Given the description of an element on the screen output the (x, y) to click on. 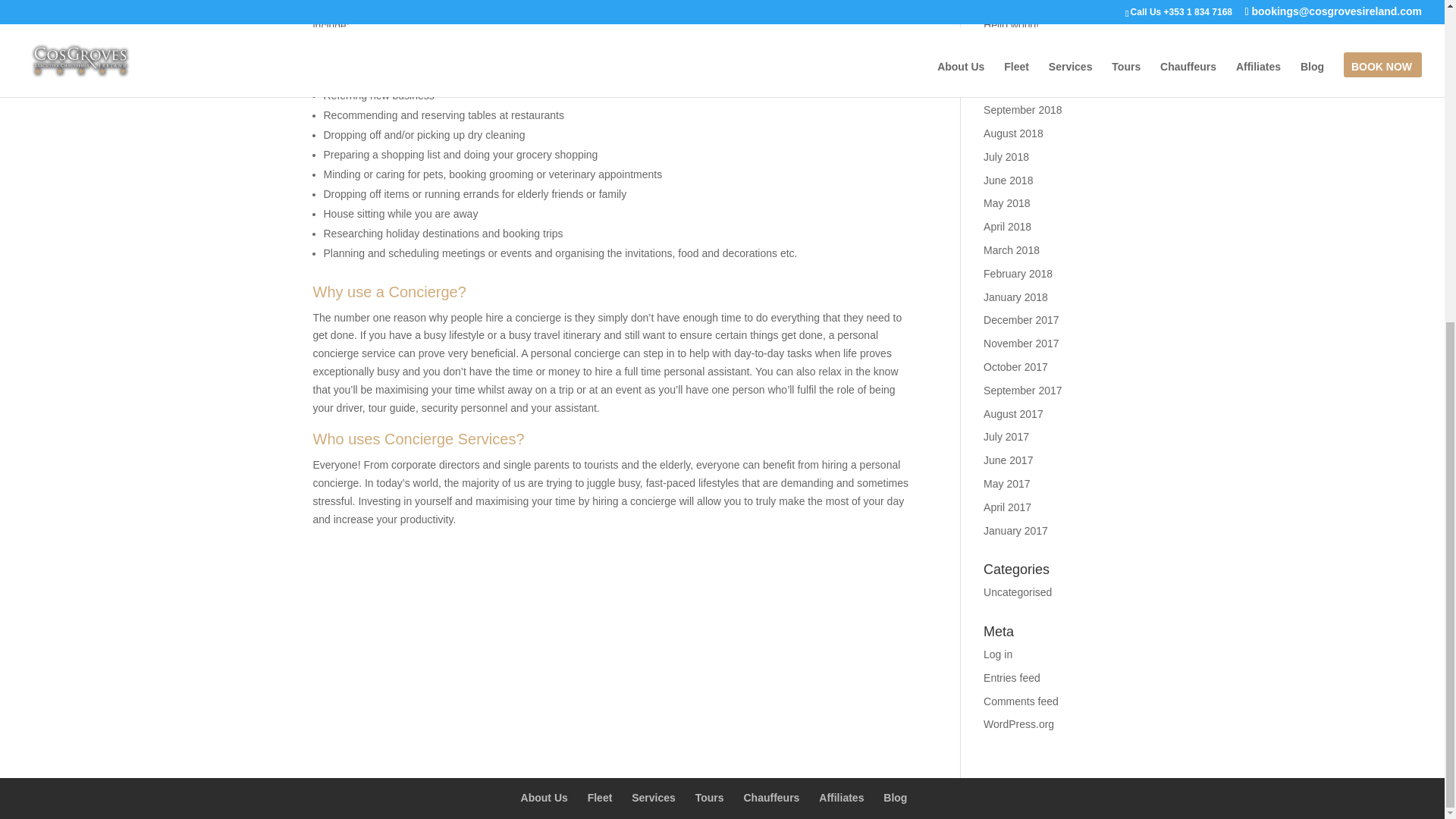
January 2018 (1016, 297)
May 2018 (1006, 203)
March 2018 (1011, 250)
A WordPress Commenter (1043, 6)
September 2018 (1023, 110)
July 2018 (1006, 156)
August 2018 (1013, 133)
October 2018 (1016, 86)
Hello world! (1011, 24)
June 2018 (1008, 180)
April 2018 (1007, 226)
February 2018 (1018, 273)
